Given the description of an element on the screen output the (x, y) to click on. 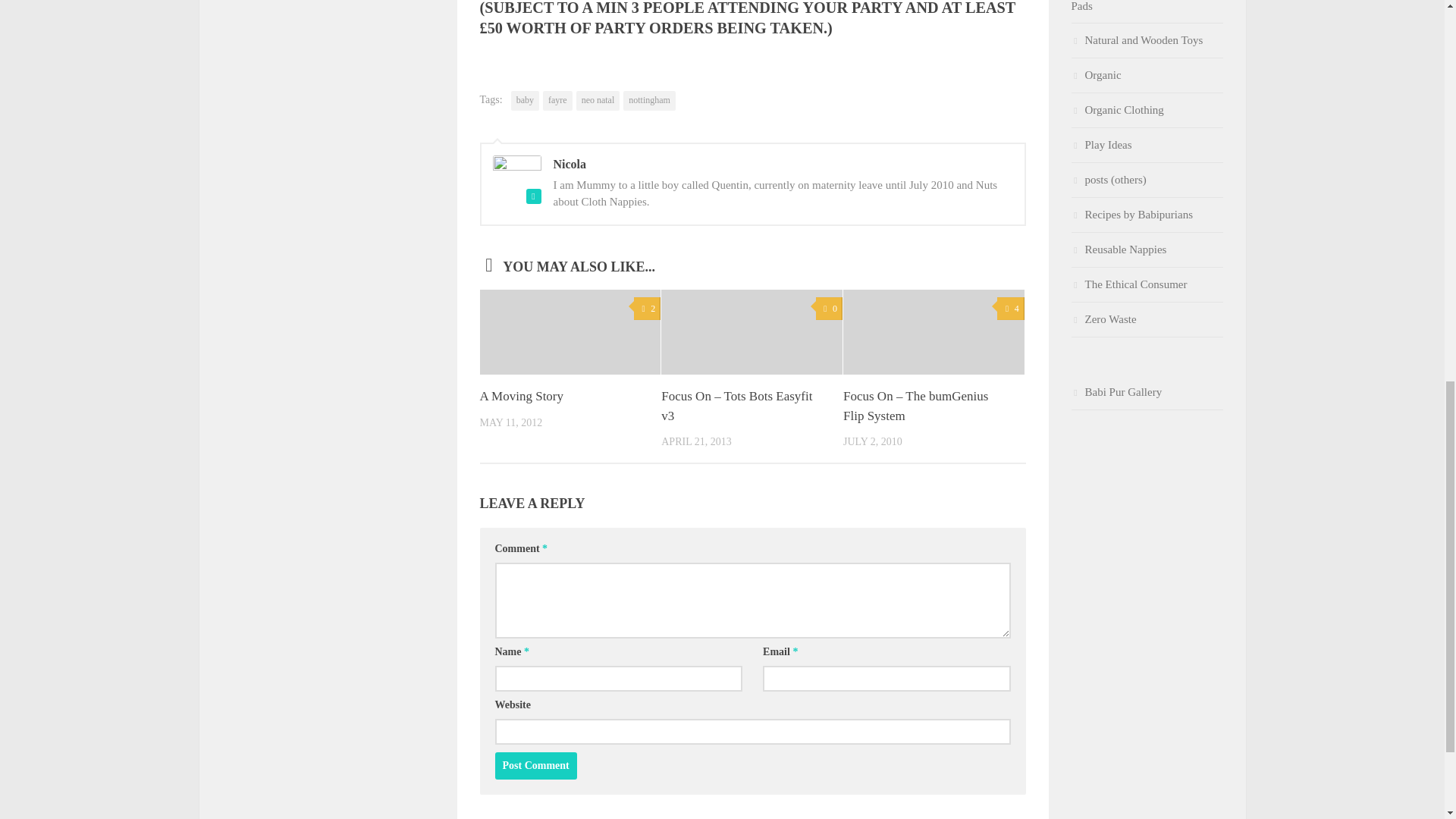
0 (829, 309)
4 (1010, 309)
Post Comment (535, 765)
nottingham (649, 100)
A Moving Story (521, 396)
neo natal (598, 100)
baby (524, 100)
2 (647, 309)
fayre (557, 100)
